Given the description of an element on the screen output the (x, y) to click on. 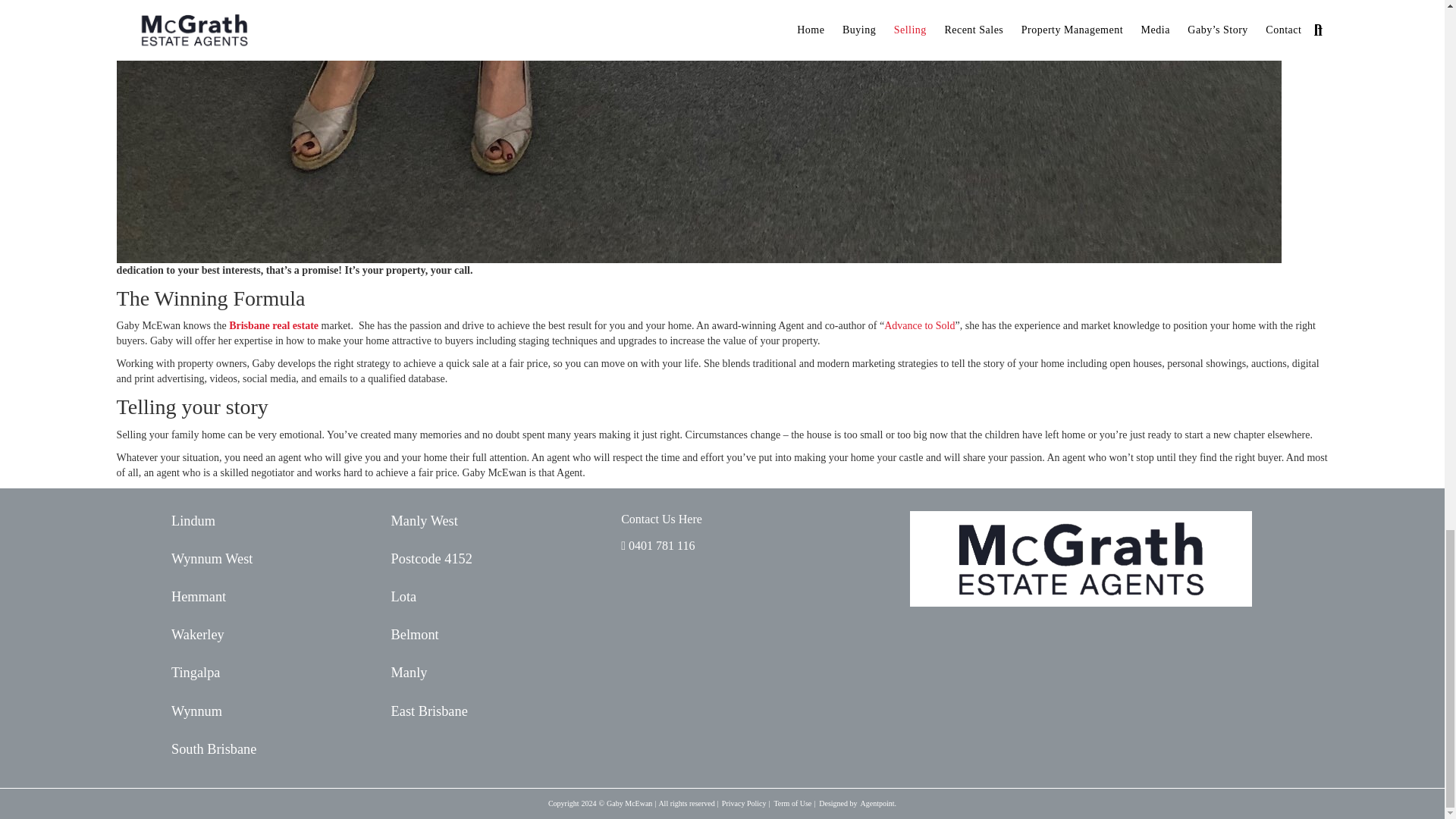
Lindum (274, 520)
Brisbane real estate (273, 325)
Wynnum West (274, 558)
Manly West (494, 520)
Postcode 4152 (494, 558)
Advance to Sold (919, 325)
